Given the description of an element on the screen output the (x, y) to click on. 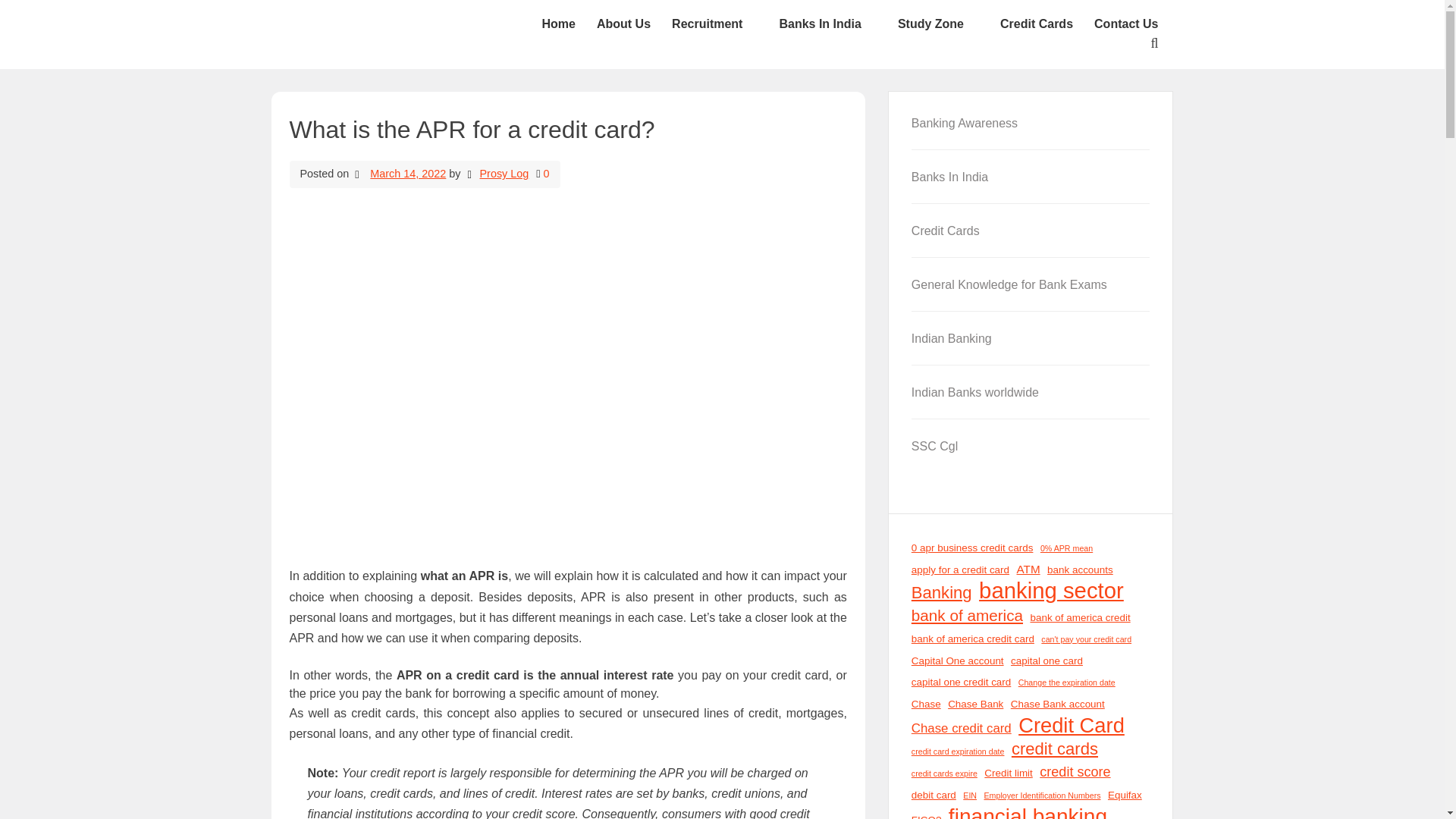
Study Zone (938, 24)
Credit Cards (1036, 24)
Recruitment (714, 24)
Home (558, 24)
Prosy Log (498, 173)
About Us (623, 24)
Banks In India (827, 24)
Contact Us (1125, 24)
Search (859, 499)
